Given the description of an element on the screen output the (x, y) to click on. 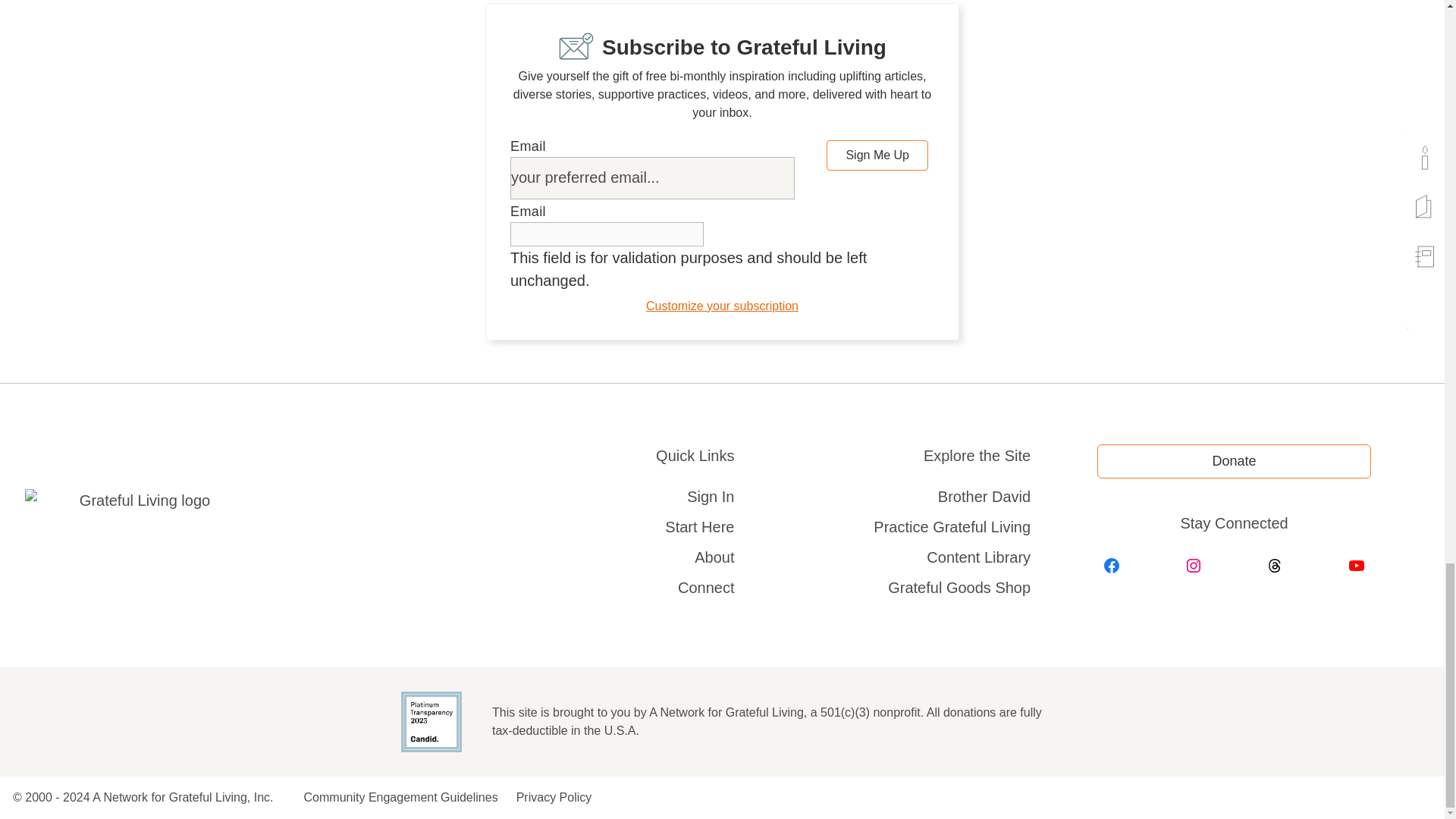
Sign Me Up (877, 155)
Brother David (969, 496)
About (713, 556)
Sign In (710, 496)
Customize your subscription (721, 305)
Sign Me Up (877, 155)
Start Here (699, 526)
Connect (706, 587)
